Given the description of an element on the screen output the (x, y) to click on. 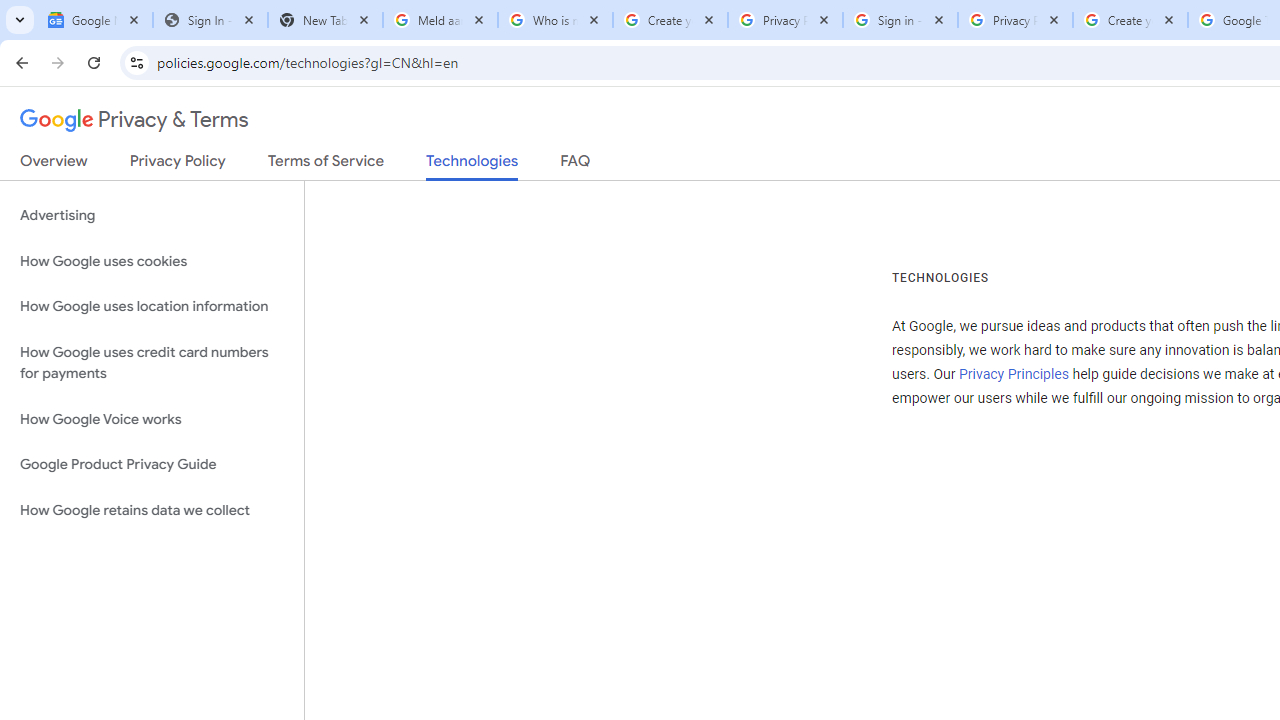
FAQ (575, 165)
Privacy & Terms (134, 120)
Create your Google Account (1129, 20)
How Google retains data we collect (152, 510)
Overview (54, 165)
Sign in - Google Accounts (900, 20)
Advertising (152, 215)
Create your Google Account (670, 20)
Sign In - USA TODAY (209, 20)
